Given the description of an element on the screen output the (x, y) to click on. 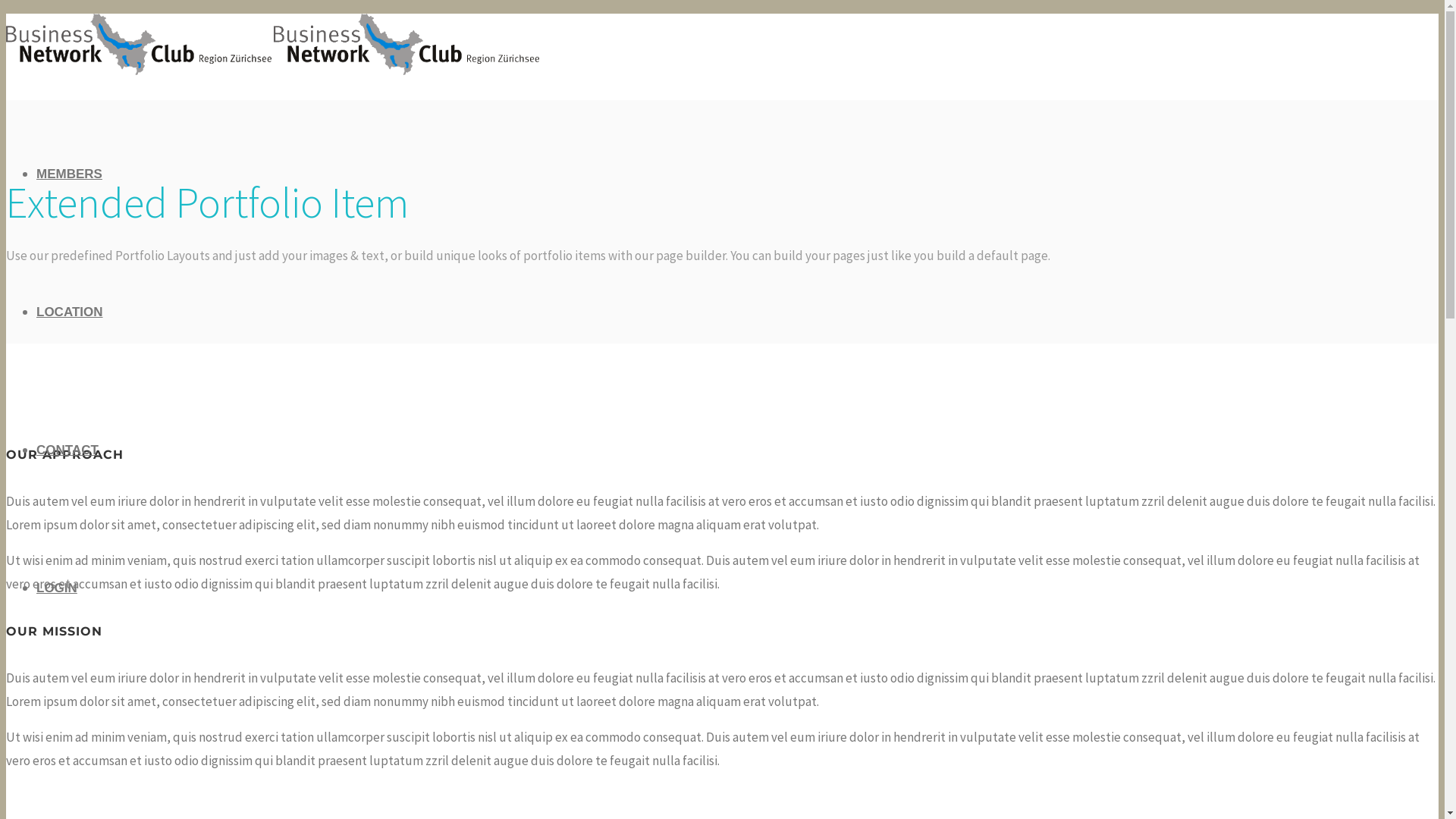
LOGIN Element type: text (56, 587)
CONTACT Element type: text (67, 449)
LOCATION Element type: text (69, 311)
MEMBERS Element type: text (69, 173)
